Given the description of an element on the screen output the (x, y) to click on. 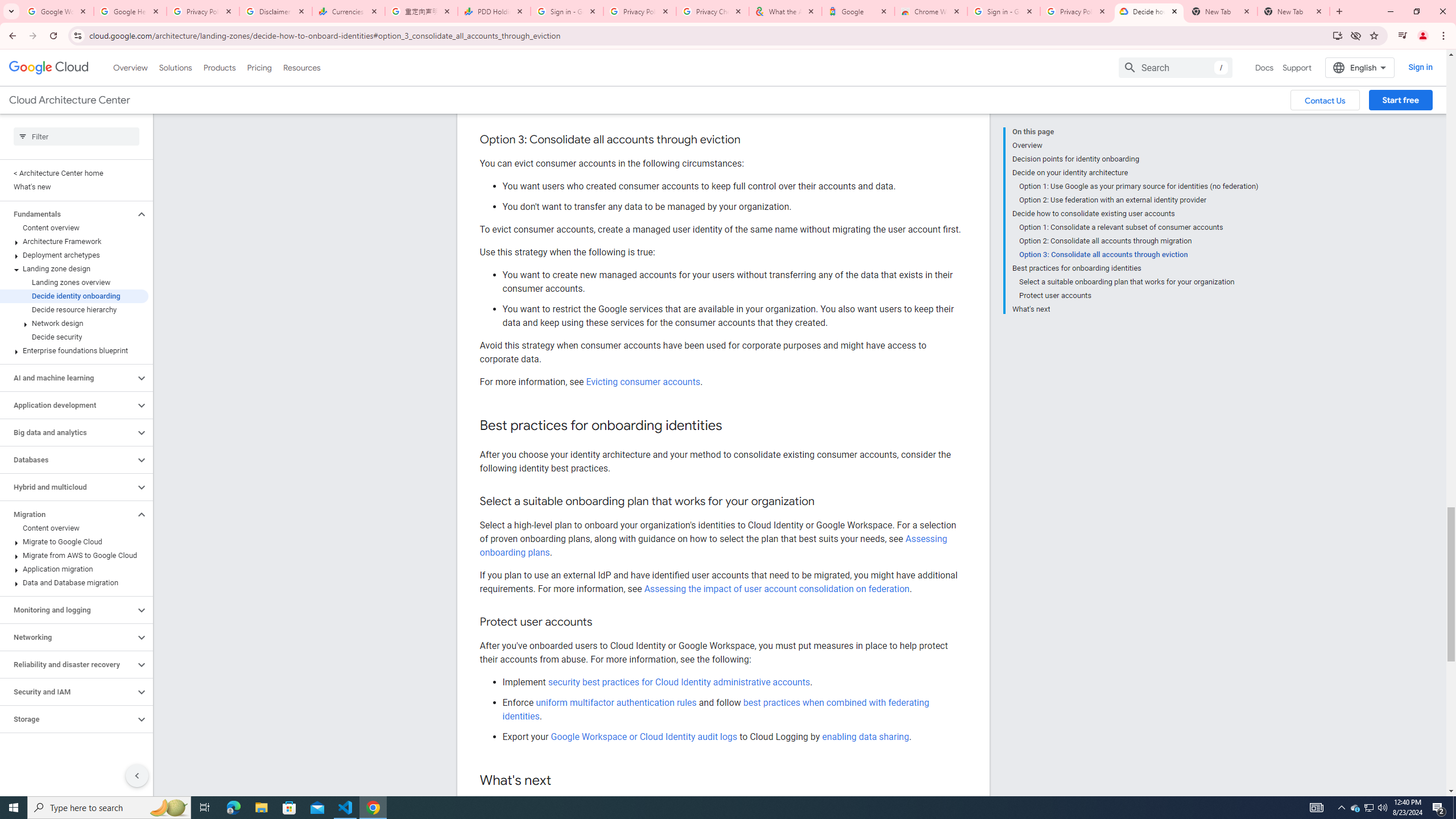
Big data and analytics (67, 432)
Install Google Cloud (1336, 35)
Start free (1400, 100)
Sign in - Google Accounts (1003, 11)
Decide security (74, 336)
Networking (67, 637)
Evicting consumer accounts (642, 381)
AI and machine learning (67, 377)
Reliability and disaster recovery (67, 664)
Assessing onboarding plans (713, 545)
Resources (301, 67)
Cloud Architecture Center (68, 100)
